Given the description of an element on the screen output the (x, y) to click on. 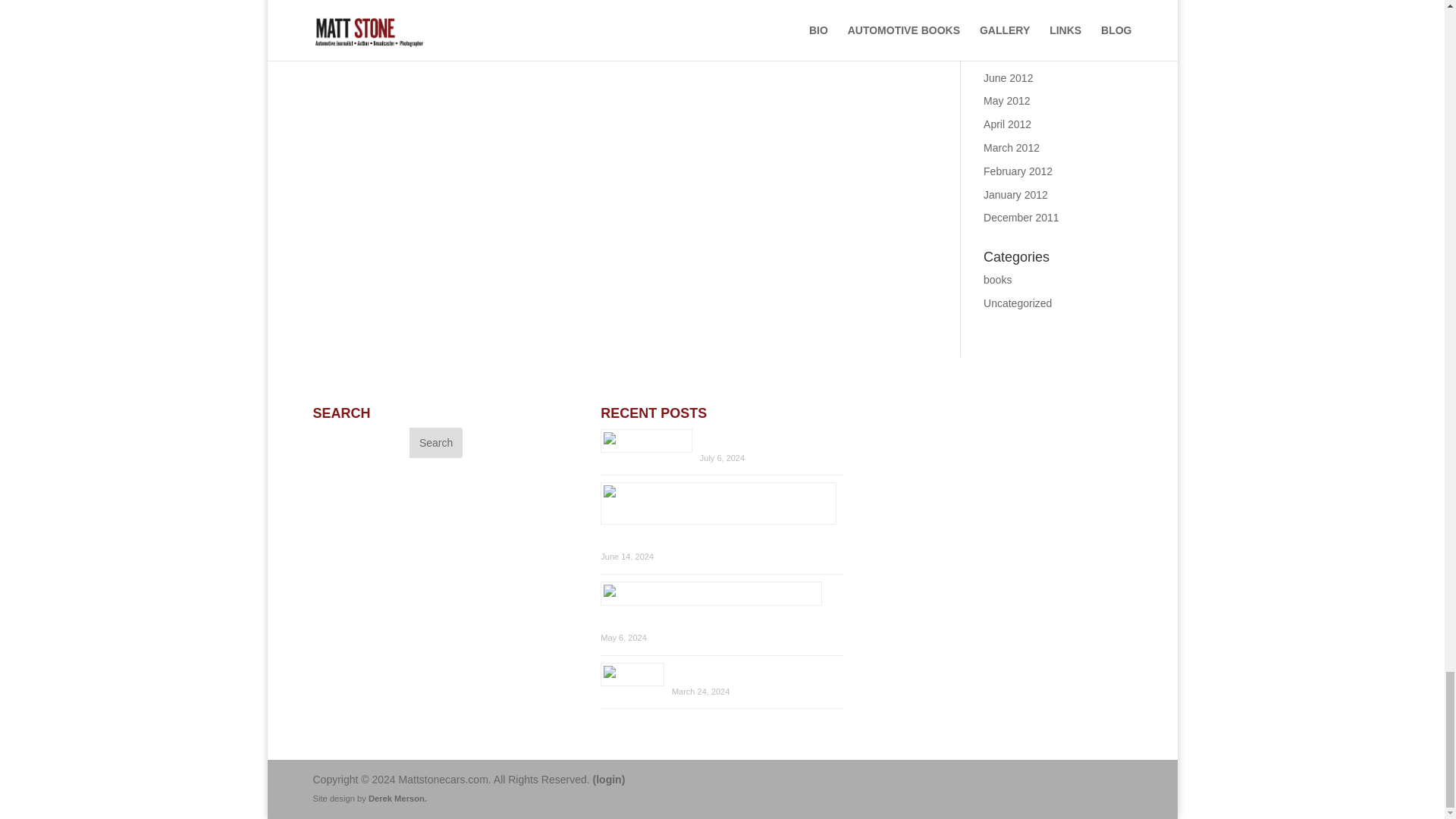
Permalink to DRIVEN: 2024 Hyundai Kona Limited AWD (721, 600)
Permalink to THE VAN (690, 667)
Permalink to Wither Lincoln? (731, 434)
Search (436, 442)
